Given the description of an element on the screen output the (x, y) to click on. 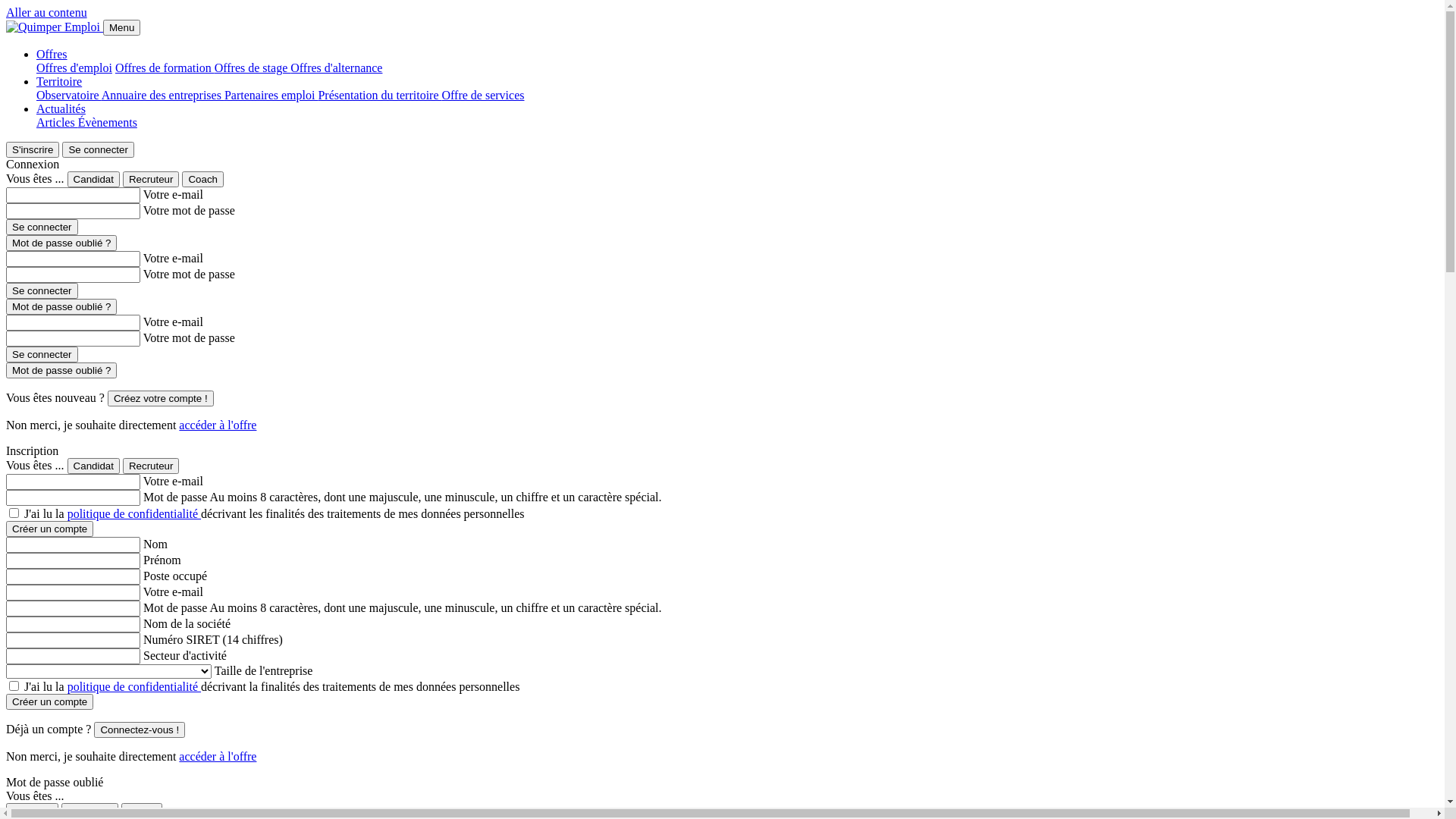
Offre de services Element type: text (482, 94)
Quimper Emploi Element type: hover (53, 27)
Offres Element type: text (51, 53)
S'inscrire Element type: text (32, 149)
Se connecter Element type: text (42, 354)
Offres de stage Element type: text (252, 67)
Aller au contenu Element type: text (46, 12)
Candidat Element type: text (93, 465)
Annuaire des entreprises Element type: text (162, 94)
Observatoire Element type: text (68, 94)
Partenaires emploi Element type: text (271, 94)
Territoire Element type: text (58, 81)
Offres de formation Element type: text (164, 67)
Connectez-vous ! Element type: text (139, 729)
Menu Element type: text (121, 27)
Se connecter Element type: text (42, 227)
Coach Element type: text (202, 179)
Offres d'alternance Element type: text (336, 67)
Se connecter Element type: text (42, 290)
Articles Element type: text (57, 122)
Offres d'emploi Element type: text (74, 67)
Candidat Element type: text (93, 179)
Recruteur Element type: text (150, 179)
Recruteur Element type: text (150, 465)
Se connecter Element type: text (98, 149)
